Given the description of an element on the screen output the (x, y) to click on. 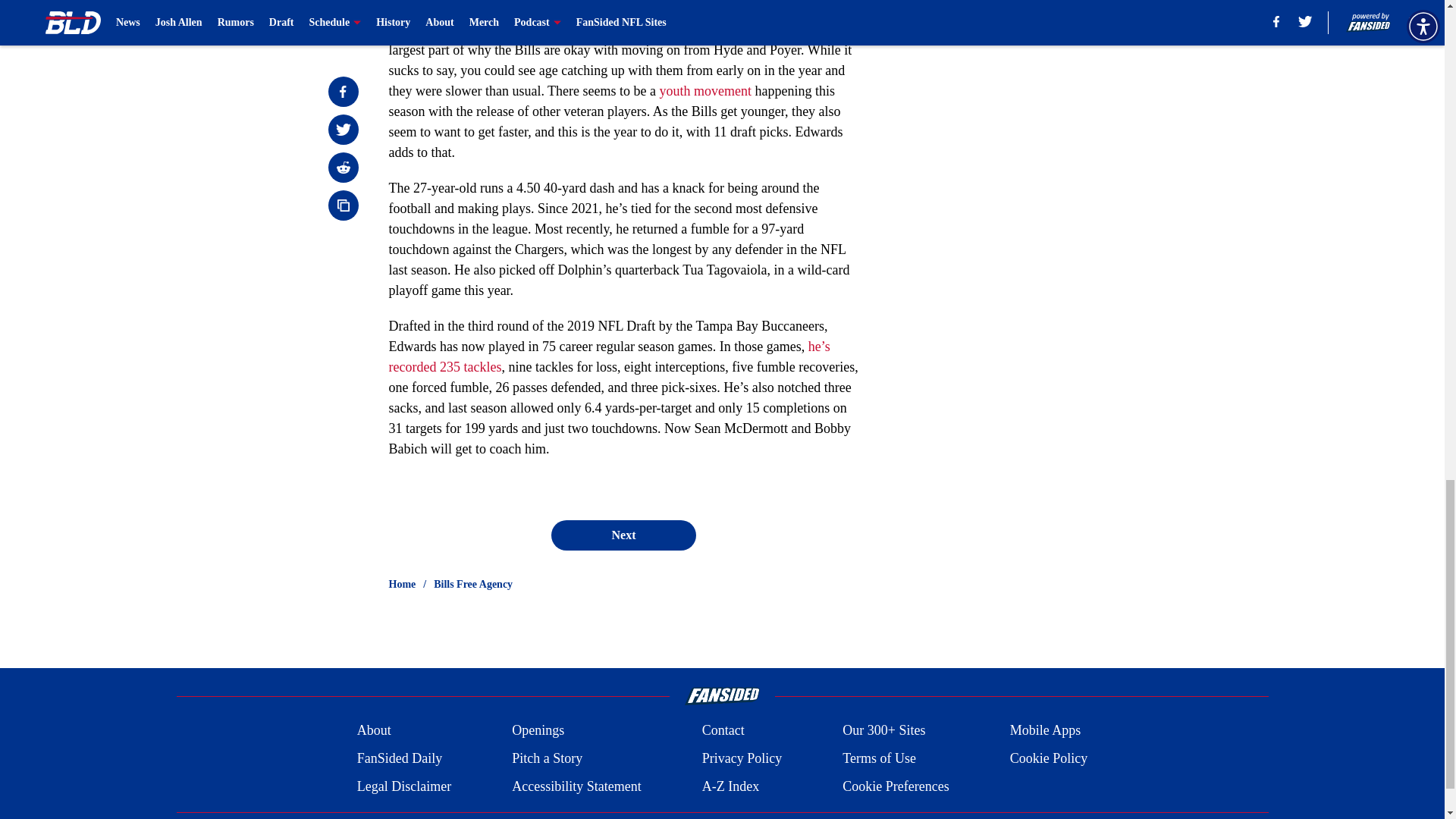
FanSided Daily (399, 758)
About (373, 730)
Mobile Apps (1045, 730)
Openings (538, 730)
Home (401, 584)
Contact (722, 730)
Next (622, 535)
Bills Free Agency (472, 584)
youth movement (705, 90)
